Given the description of an element on the screen output the (x, y) to click on. 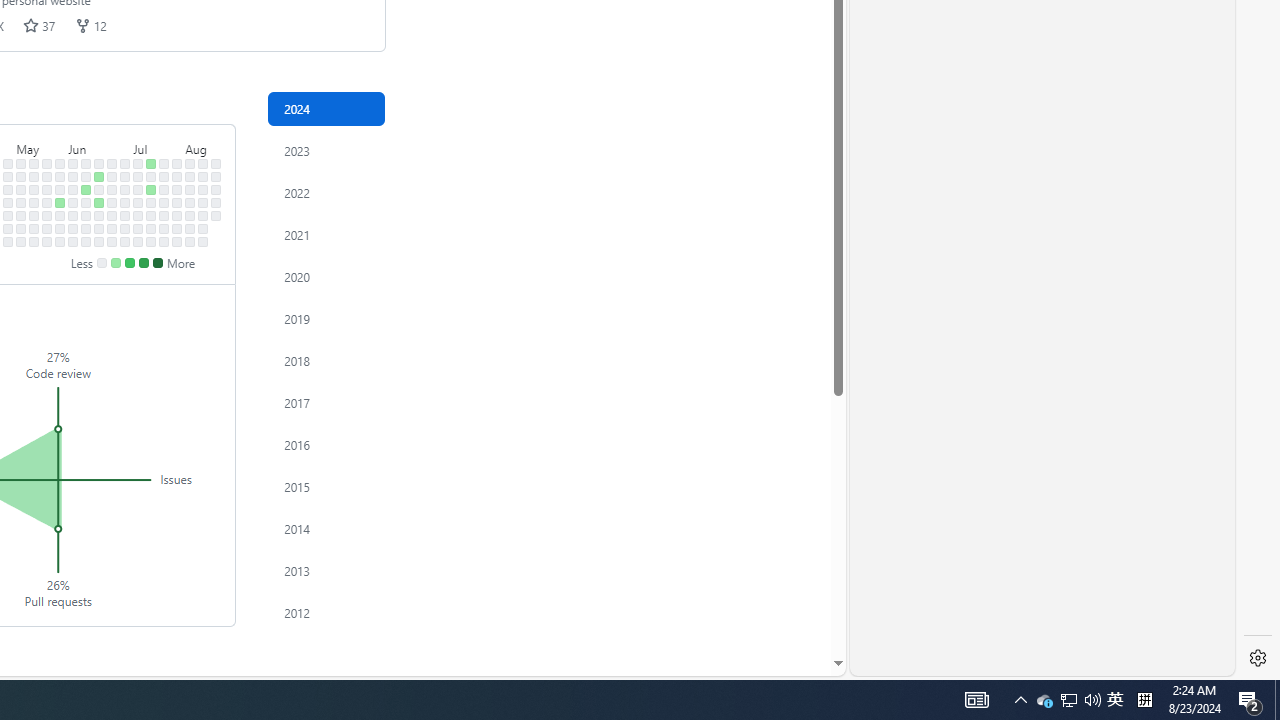
Contribution activity in 2020 (326, 276)
3 contributions on May 29th. (60, 202)
No contributions on May 9th. (20, 215)
No contributions on May 8th. (20, 202)
No contributions on July 8th. (138, 176)
2017 (326, 402)
No contributions on June 22nd. (98, 241)
No contributions on August 18th. (216, 163)
2014 (326, 528)
Contribution activity in 2019 (326, 318)
No contributions on July 3rd. (125, 202)
1 contribution on June 11th. (86, 189)
No contributions on August 6th. (190, 189)
No contributions on July 10th. (138, 202)
2024 (326, 107)
